Given the description of an element on the screen output the (x, y) to click on. 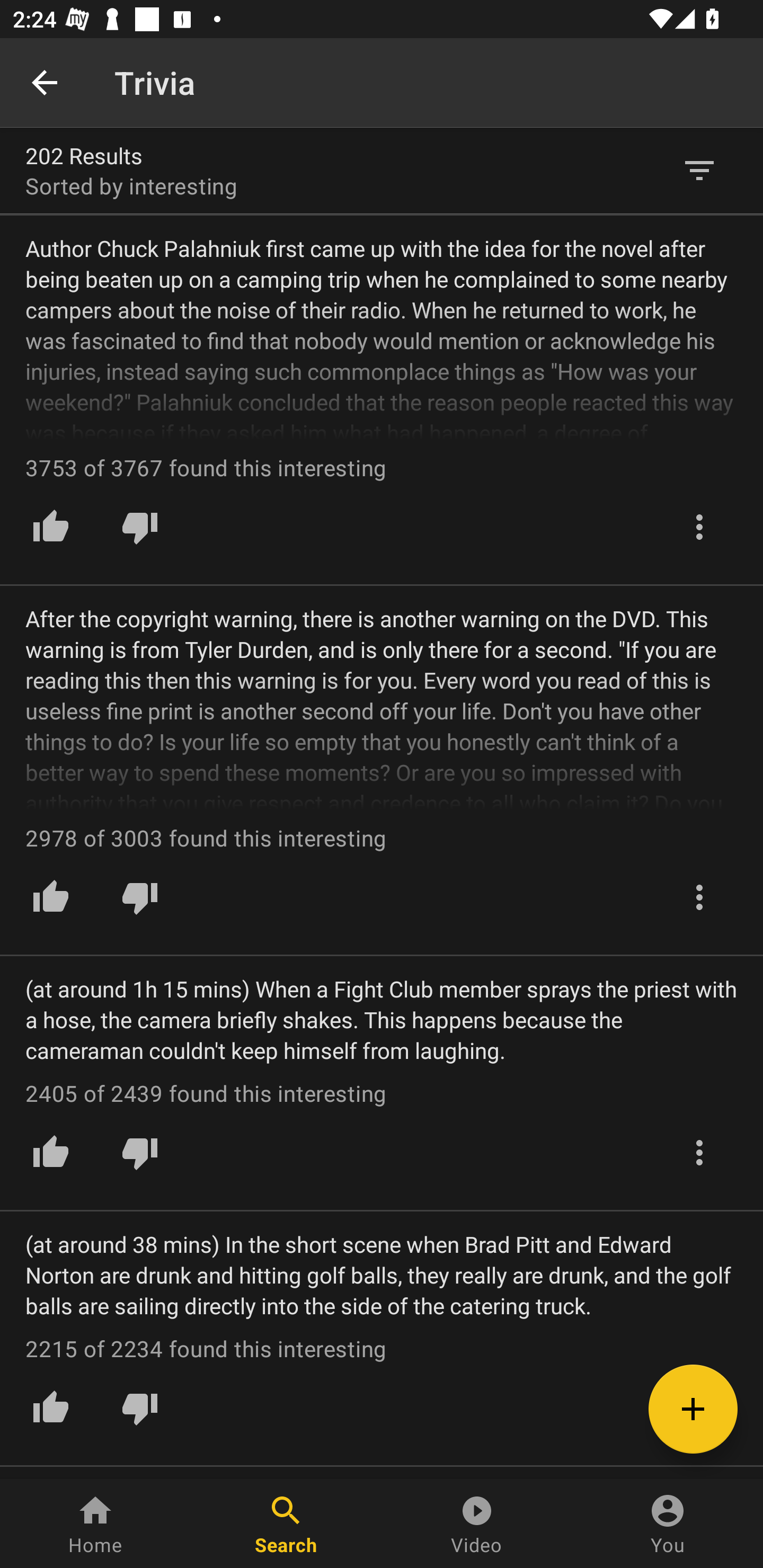
Home (95, 1523)
Video (476, 1523)
You (667, 1523)
